Given the description of an element on the screen output the (x, y) to click on. 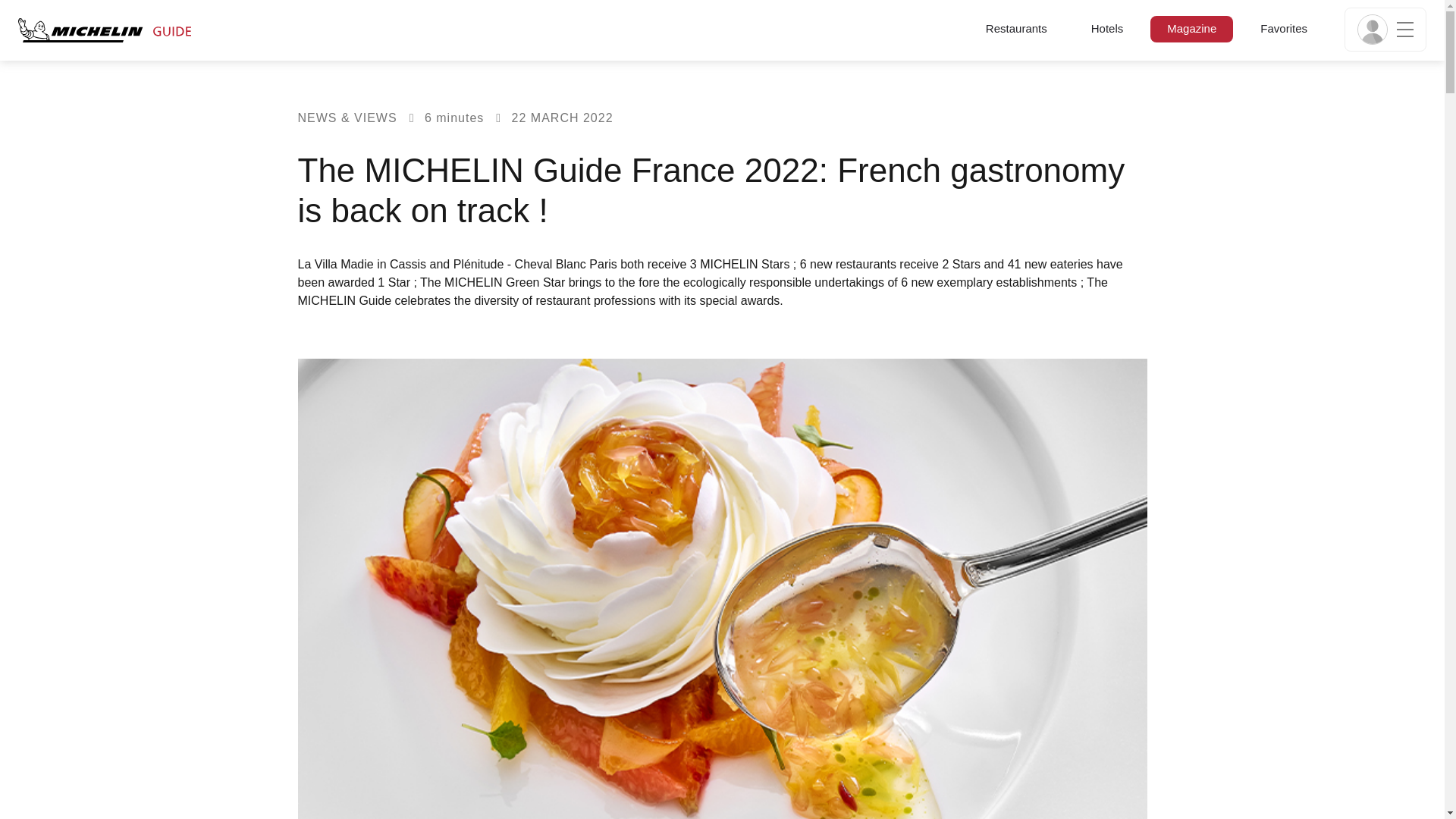
Restaurants (1016, 28)
Magazine (1191, 28)
Favorites (1283, 28)
Hotels (1107, 28)
